Given the description of an element on the screen output the (x, y) to click on. 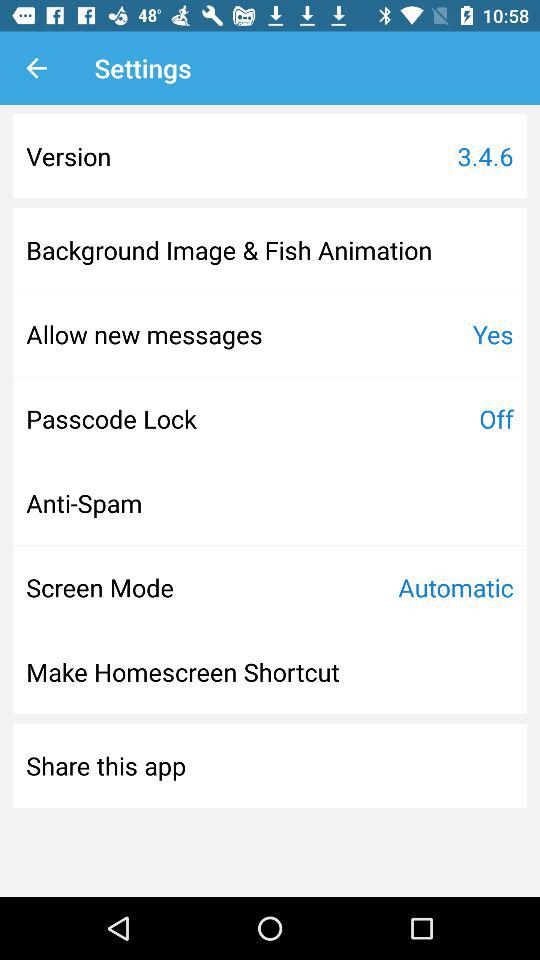
press the passcode lock item (111, 418)
